Given the description of an element on the screen output the (x, y) to click on. 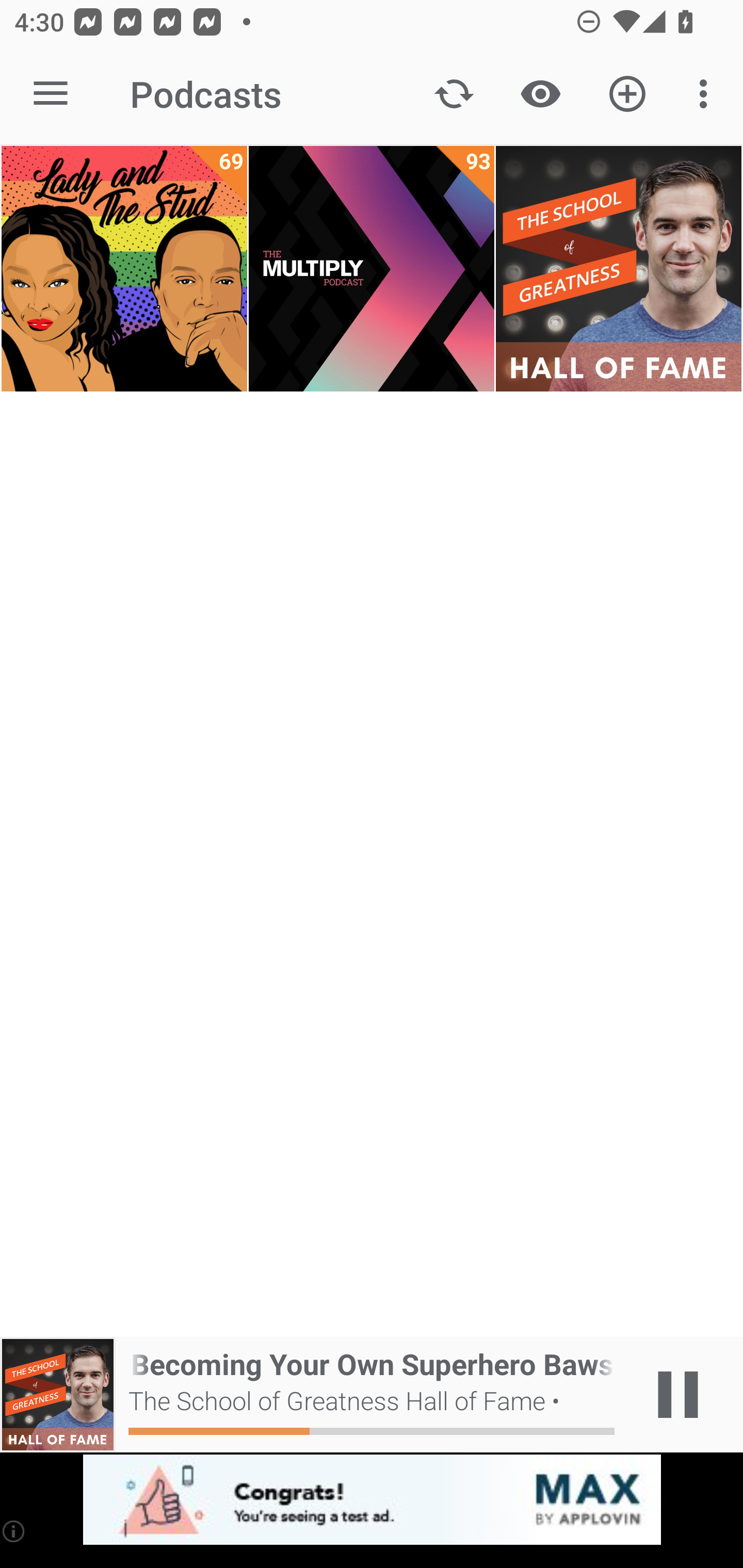
Open navigation sidebar (50, 93)
Update (453, 93)
Show / Hide played content (540, 93)
Add new Podcast (626, 93)
More options (706, 93)
Lady and The Stud 69 (124, 268)
The Multiply Podcast 93 (371, 268)
The School of Greatness Hall of Fame (618, 268)
Play / Pause (677, 1394)
app-monetization (371, 1500)
(i) (14, 1531)
